Given the description of an element on the screen output the (x, y) to click on. 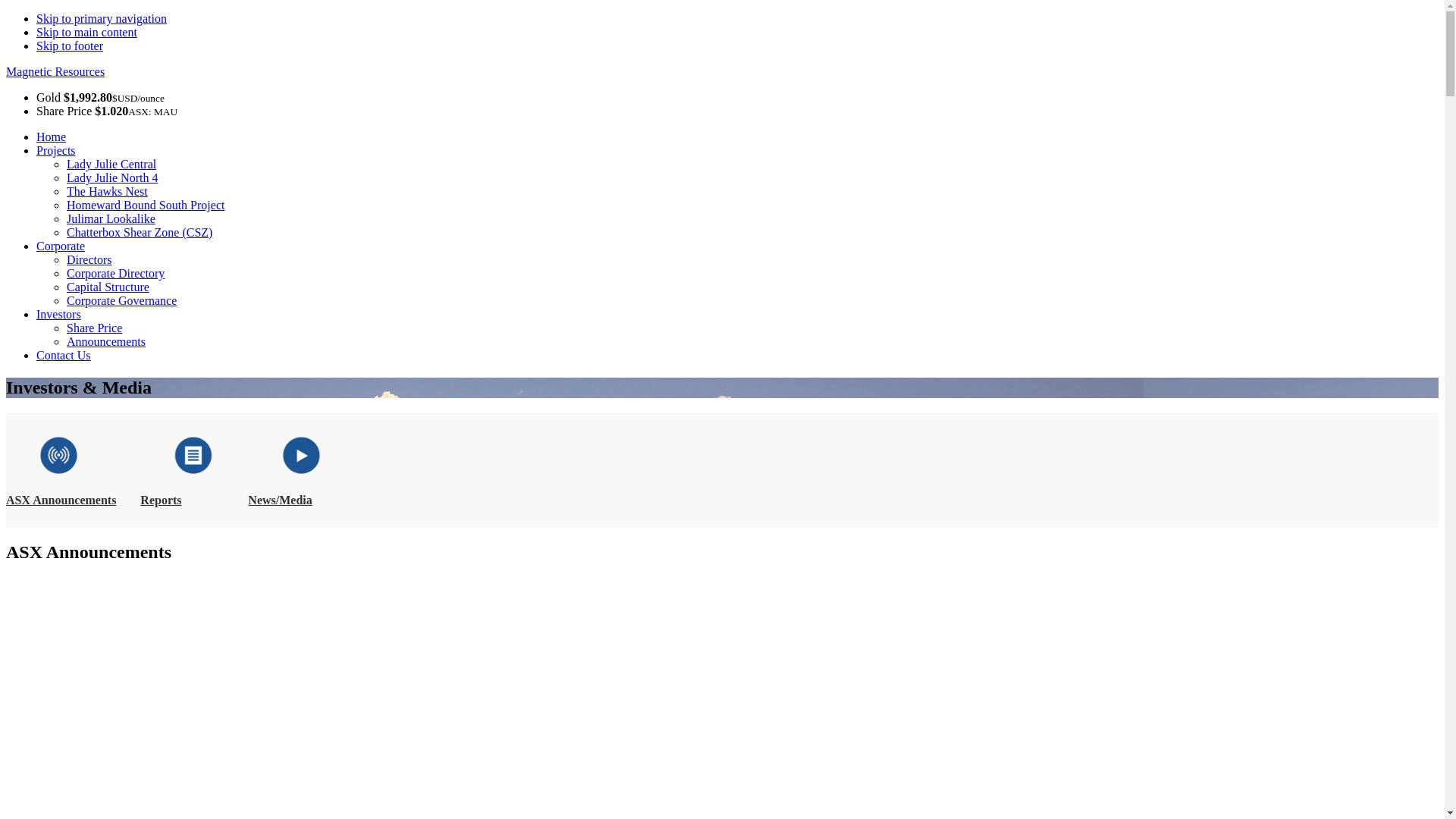
Corporate Element type: text (60, 245)
Directors Element type: text (89, 259)
Homeward Bound South Project Element type: text (145, 204)
The Hawks Nest Element type: text (106, 191)
News/Media Element type: text (279, 499)
Capital Structure Element type: text (107, 286)
Corporate Directory Element type: text (115, 272)
Projects Element type: text (55, 150)
Investors Element type: text (58, 313)
Magnetic Resources Element type: text (55, 71)
Contact Us Element type: text (63, 354)
Julimar Lookalike Element type: text (110, 218)
Skip to main content Element type: text (86, 31)
Skip to primary navigation Element type: text (101, 18)
Lady Julie Central Element type: text (111, 163)
Corporate Governance Element type: text (121, 300)
Share Price Element type: text (94, 327)
Reports Element type: text (160, 499)
Announcements Element type: text (105, 341)
Home Element type: text (50, 136)
Chatterbox Shear Zone (CSZ) Element type: text (139, 231)
ASX Announcements Element type: text (61, 499)
Lady Julie North 4 Element type: text (111, 177)
Skip to footer Element type: text (69, 45)
